Given the description of an element on the screen output the (x, y) to click on. 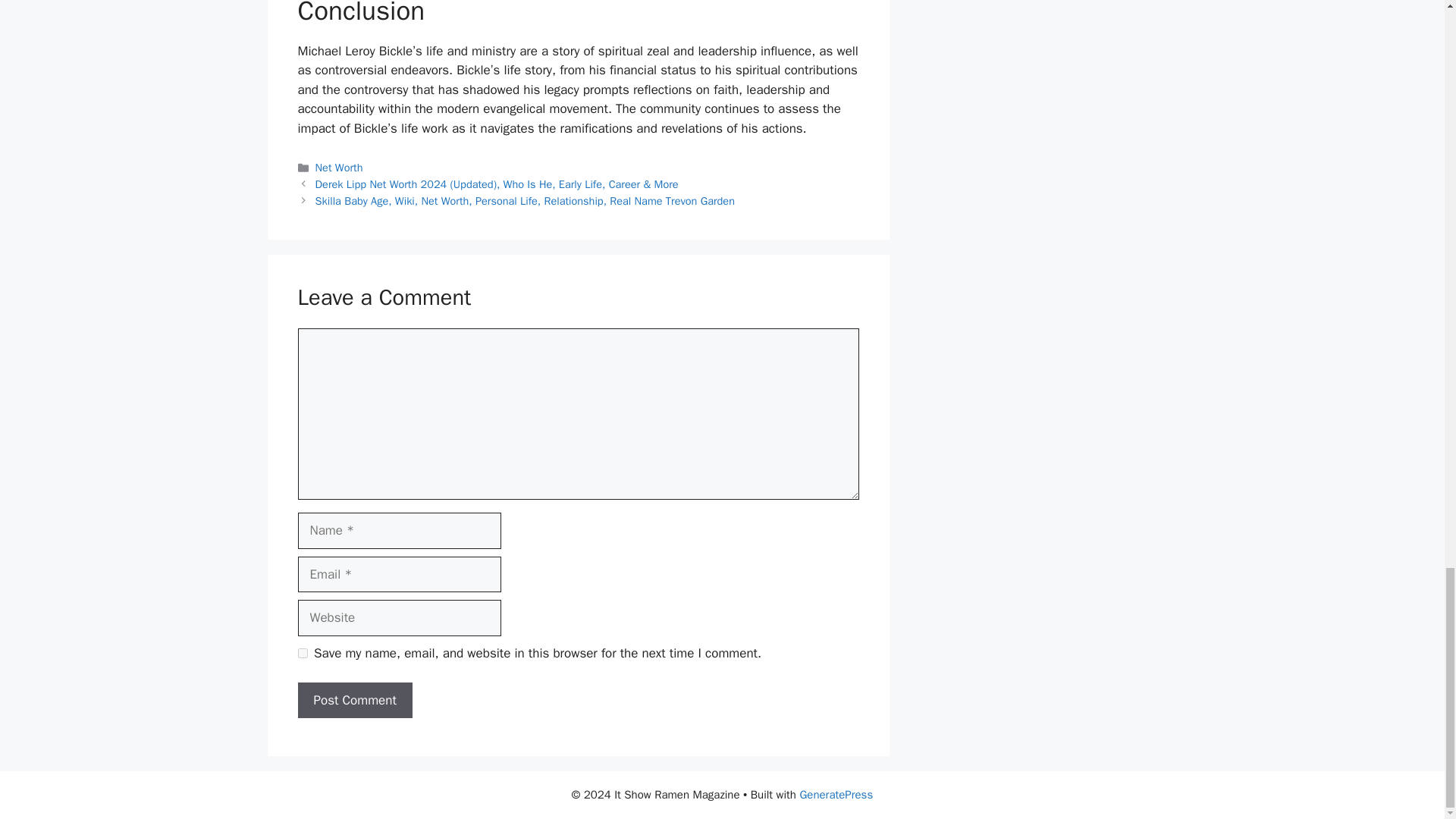
GeneratePress (835, 794)
yes (302, 653)
Post Comment (354, 700)
Net Worth (338, 167)
Post Comment (354, 700)
